Given the description of an element on the screen output the (x, y) to click on. 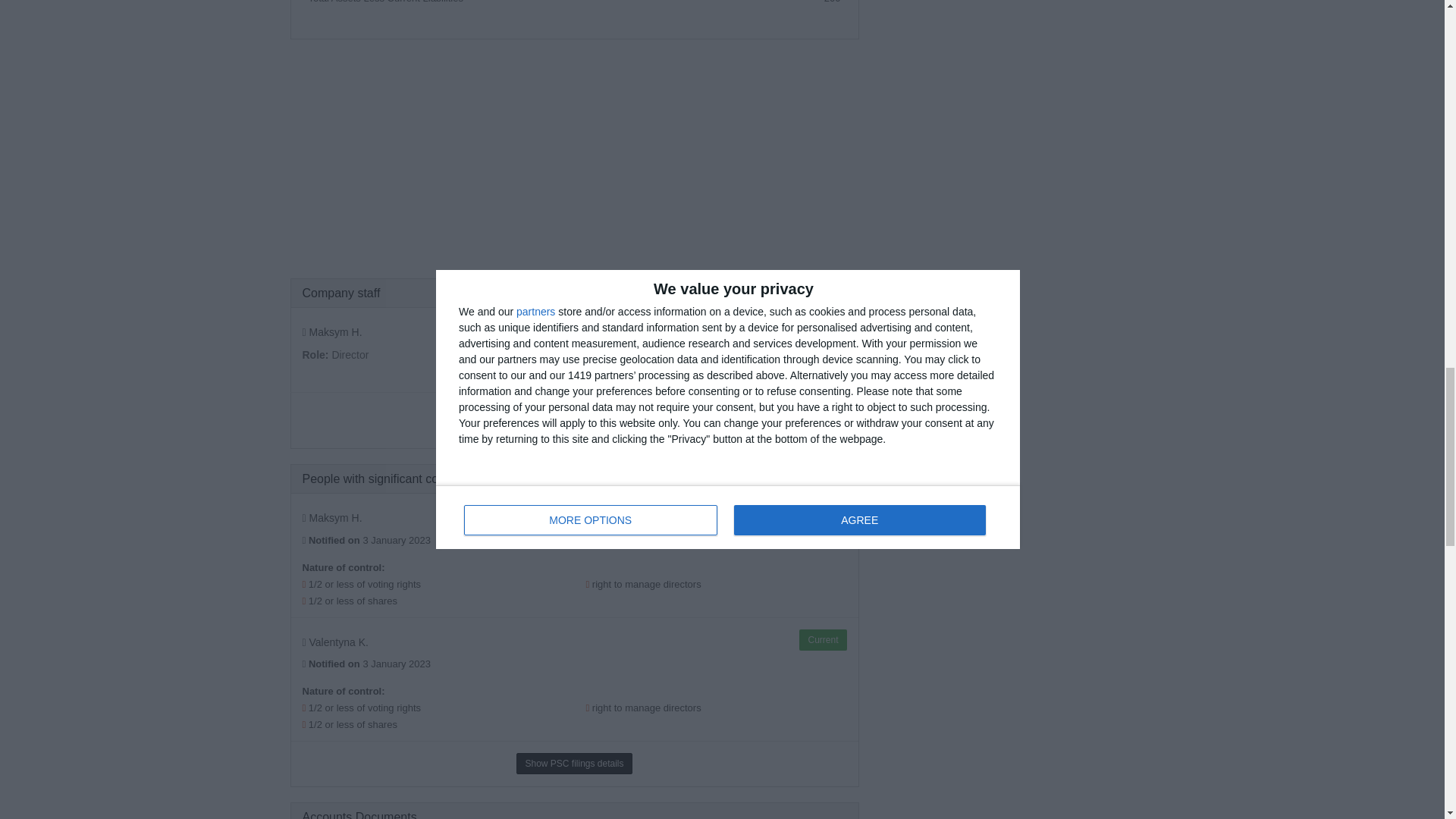
Total assets less current liabilities (385, 2)
Show all officers (519, 414)
Current (822, 639)
Current (822, 515)
Show PSC filings details (573, 762)
Current (822, 329)
Show directors details (616, 414)
